Given the description of an element on the screen output the (x, y) to click on. 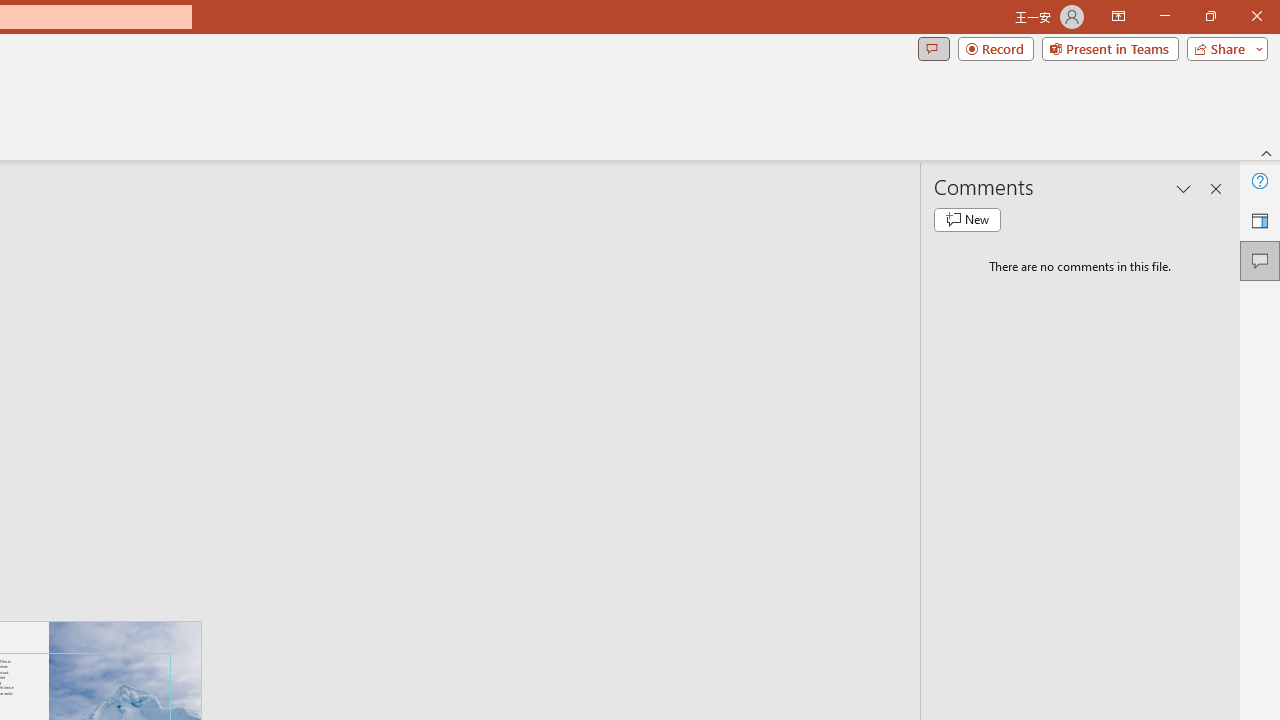
Feedback to Microsoft (1260, 220)
Close pane (1215, 188)
Task Pane Options (1183, 188)
